Given the description of an element on the screen output the (x, y) to click on. 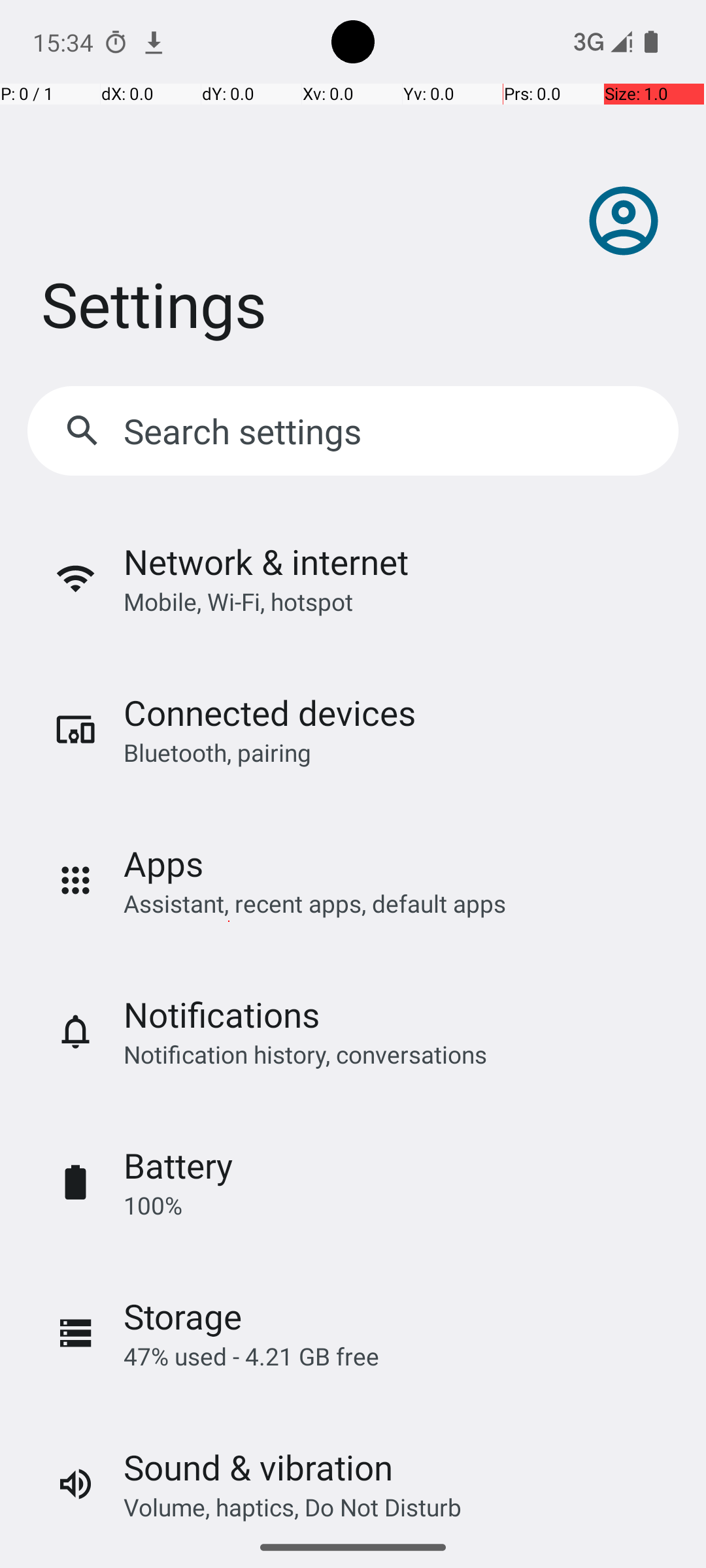
47% used - 4.21 GB free Element type: android.widget.TextView (251, 1355)
